Given the description of an element on the screen output the (x, y) to click on. 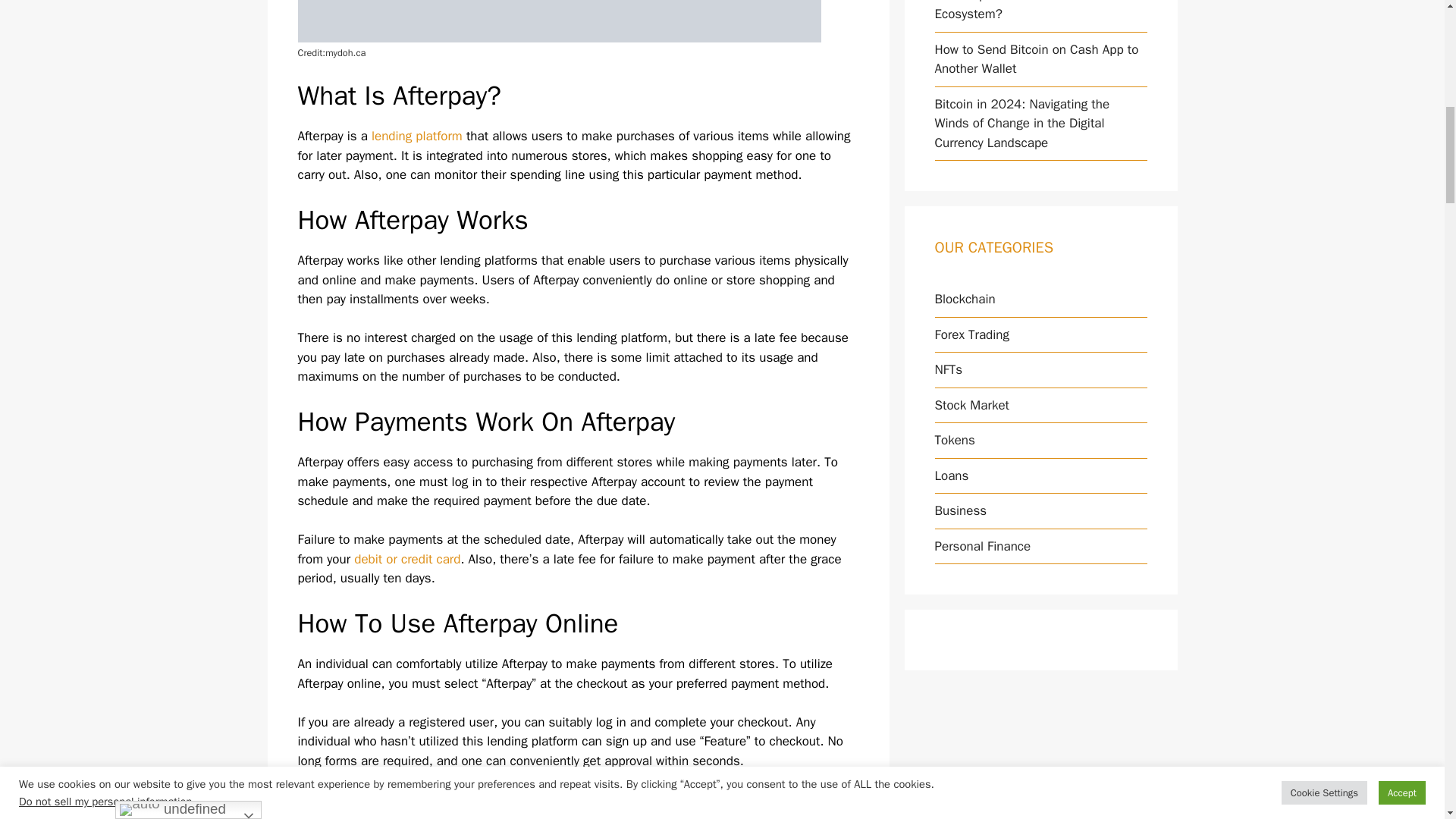
lending platform (417, 135)
debit or credit card (406, 559)
How Afterpay Works - What You Need To Know Before Sign Up 5 (559, 20)
Scroll back to top (1406, 720)
